Given the description of an element on the screen output the (x, y) to click on. 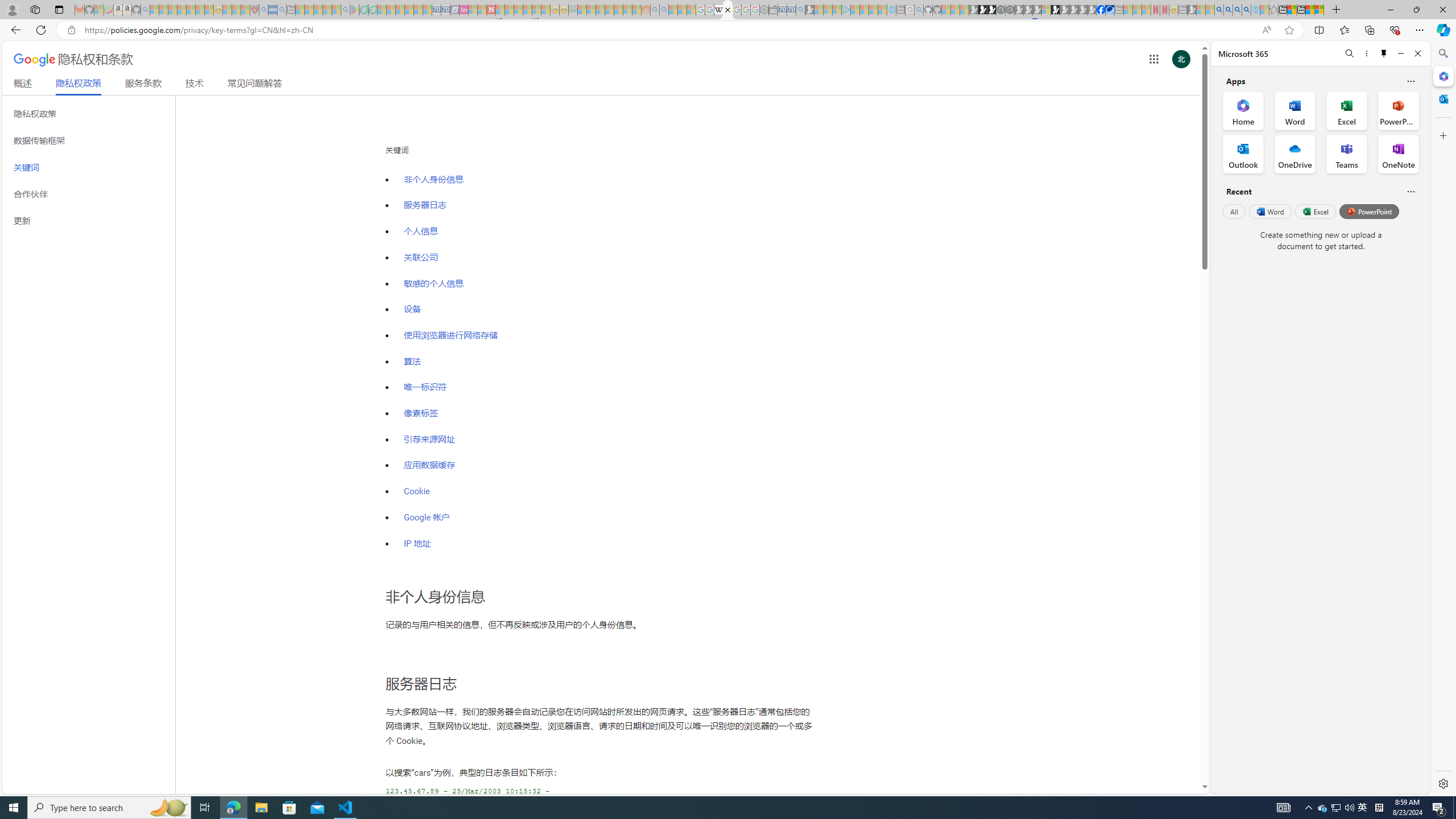
Close Microsoft 365 pane (1442, 76)
2009 Bing officially replaced Live Search on June 3 - Search (1227, 9)
Cookie (416, 491)
